Given the description of an element on the screen output the (x, y) to click on. 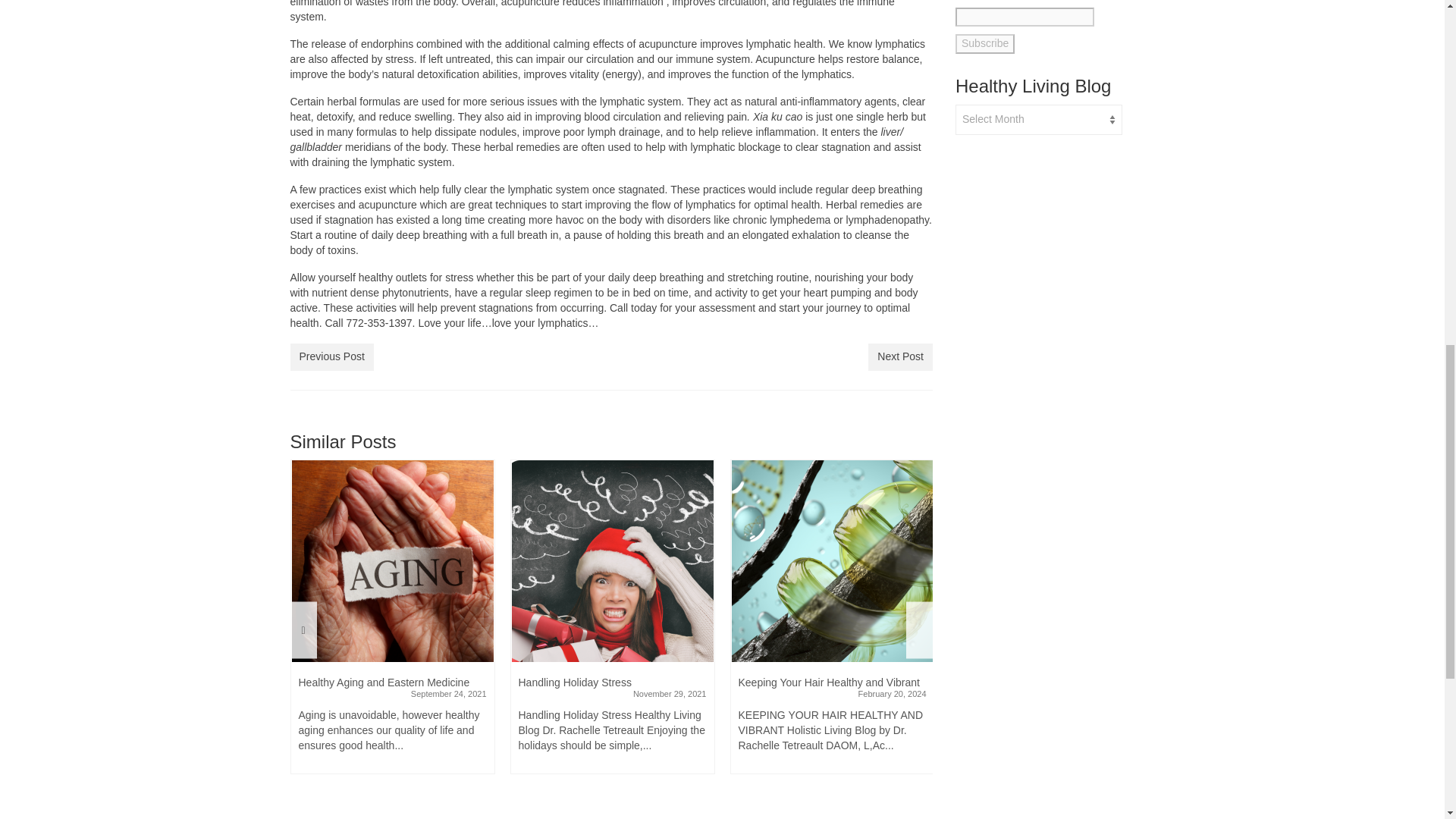
Keeping Your Hair Healthy and Vibrant (832, 560)
Handling Holiday Stress (612, 560)
Previous Post (330, 357)
Healthy Aging and Eastern Medicine (393, 560)
Subscribe (984, 44)
Next Post (900, 357)
